Given the description of an element on the screen output the (x, y) to click on. 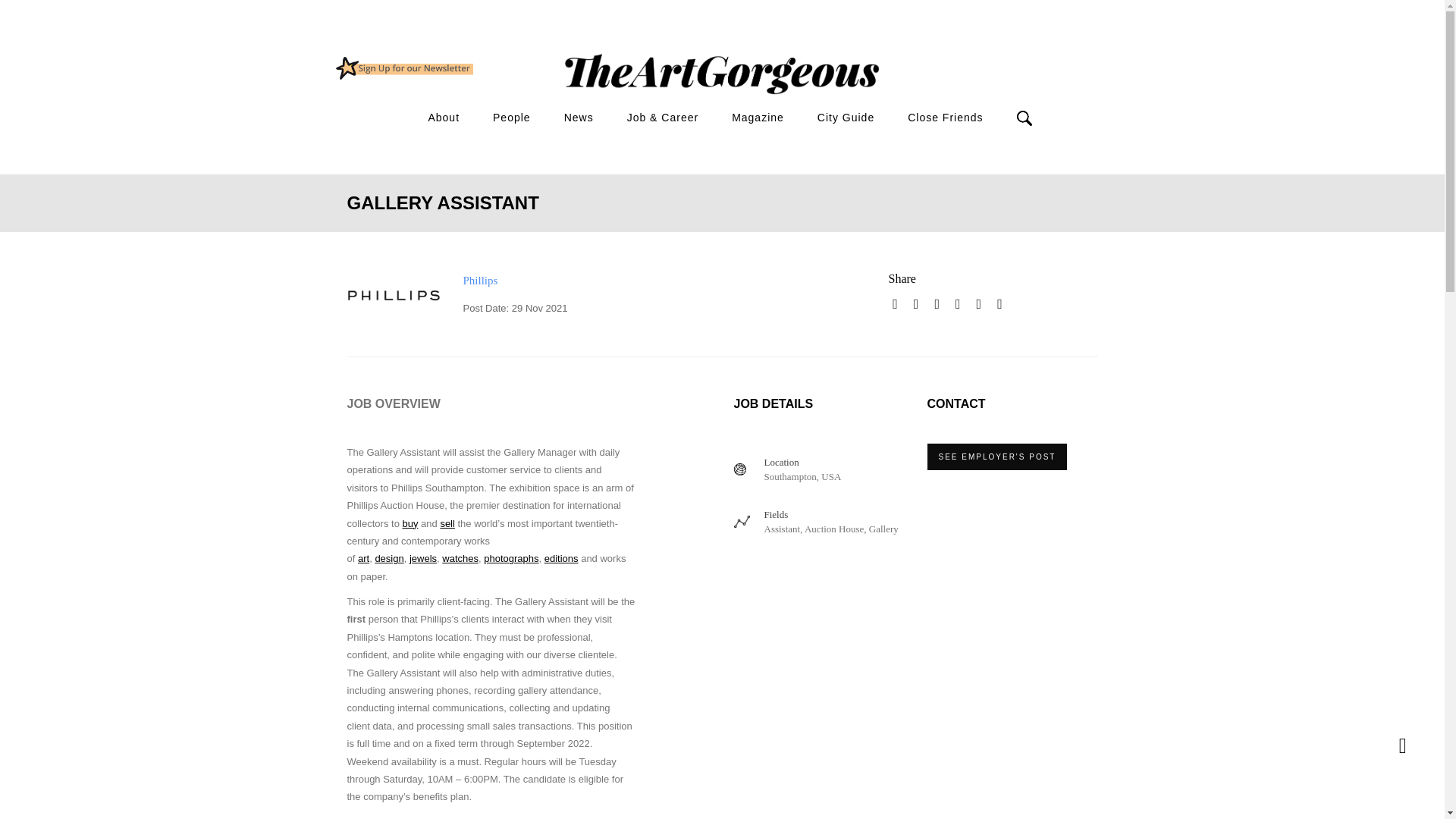
art (363, 558)
City Guide (845, 117)
photographs (510, 558)
editions (561, 558)
Magazine (758, 117)
watches (460, 558)
News (579, 117)
search (911, 144)
design (388, 558)
Assistant, (783, 528)
